Given the description of an element on the screen output the (x, y) to click on. 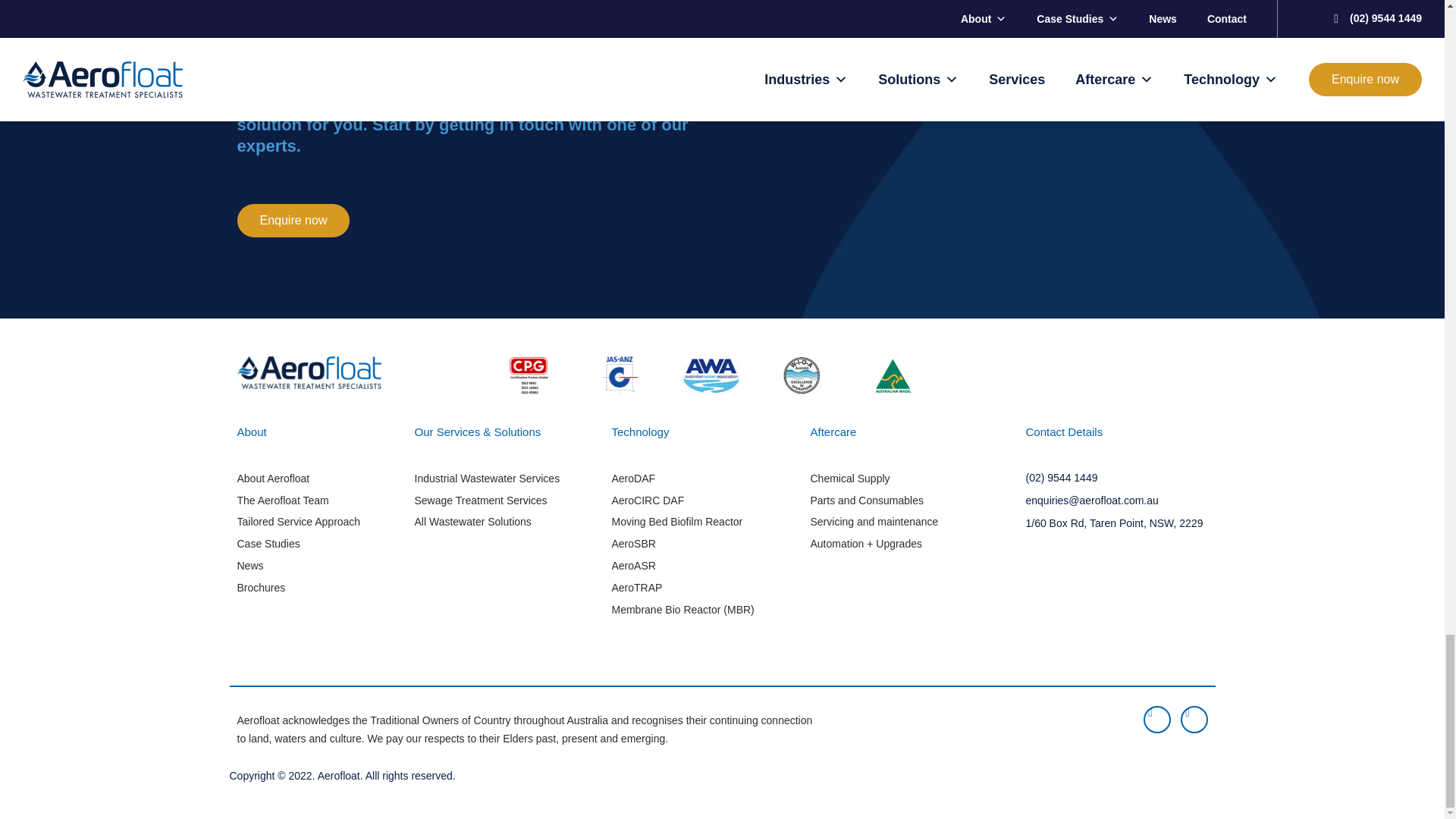
Aerofloat logo (307, 372)
